Given the description of an element on the screen output the (x, y) to click on. 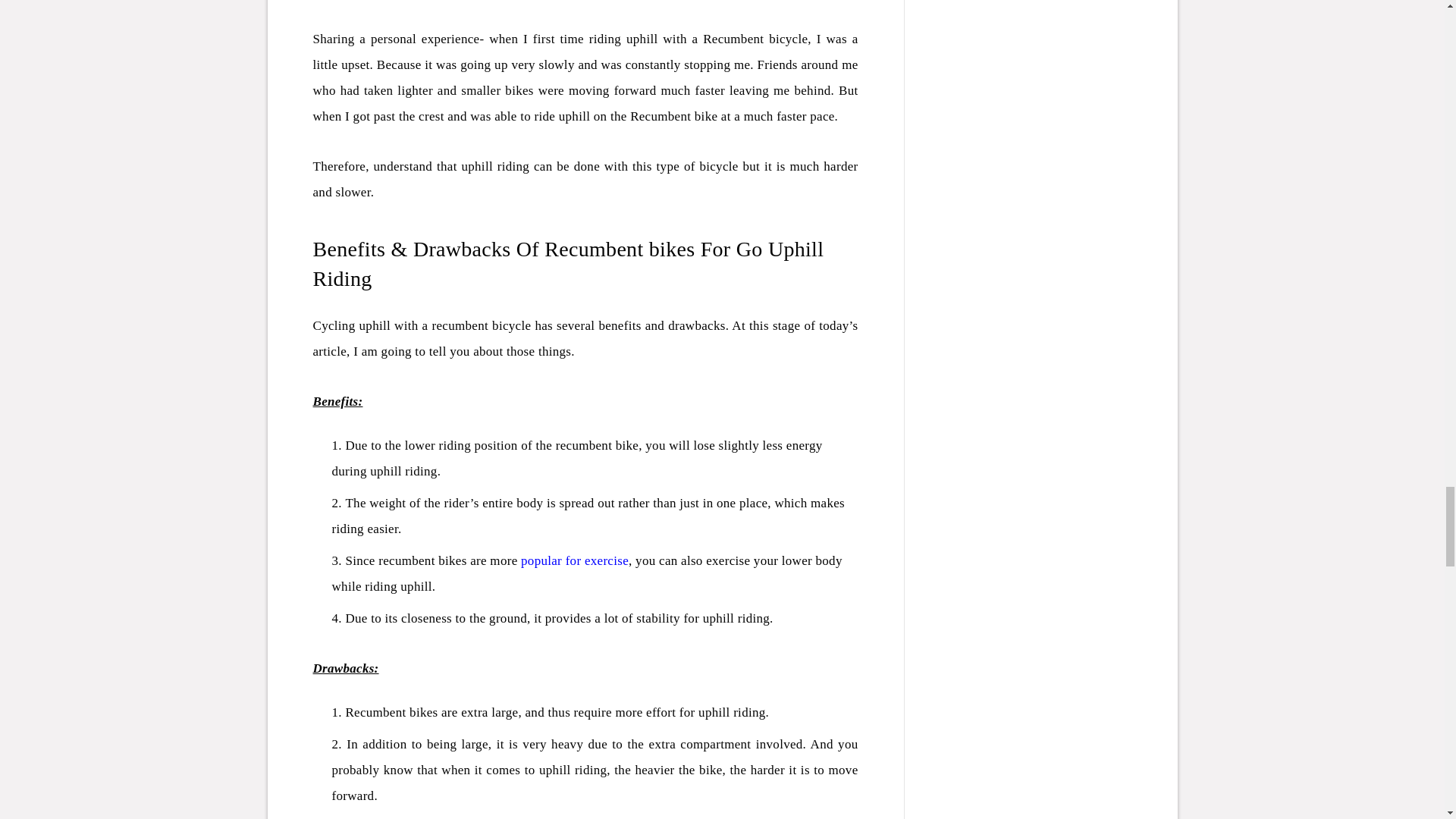
popular for exercise (574, 560)
